Given the description of an element on the screen output the (x, y) to click on. 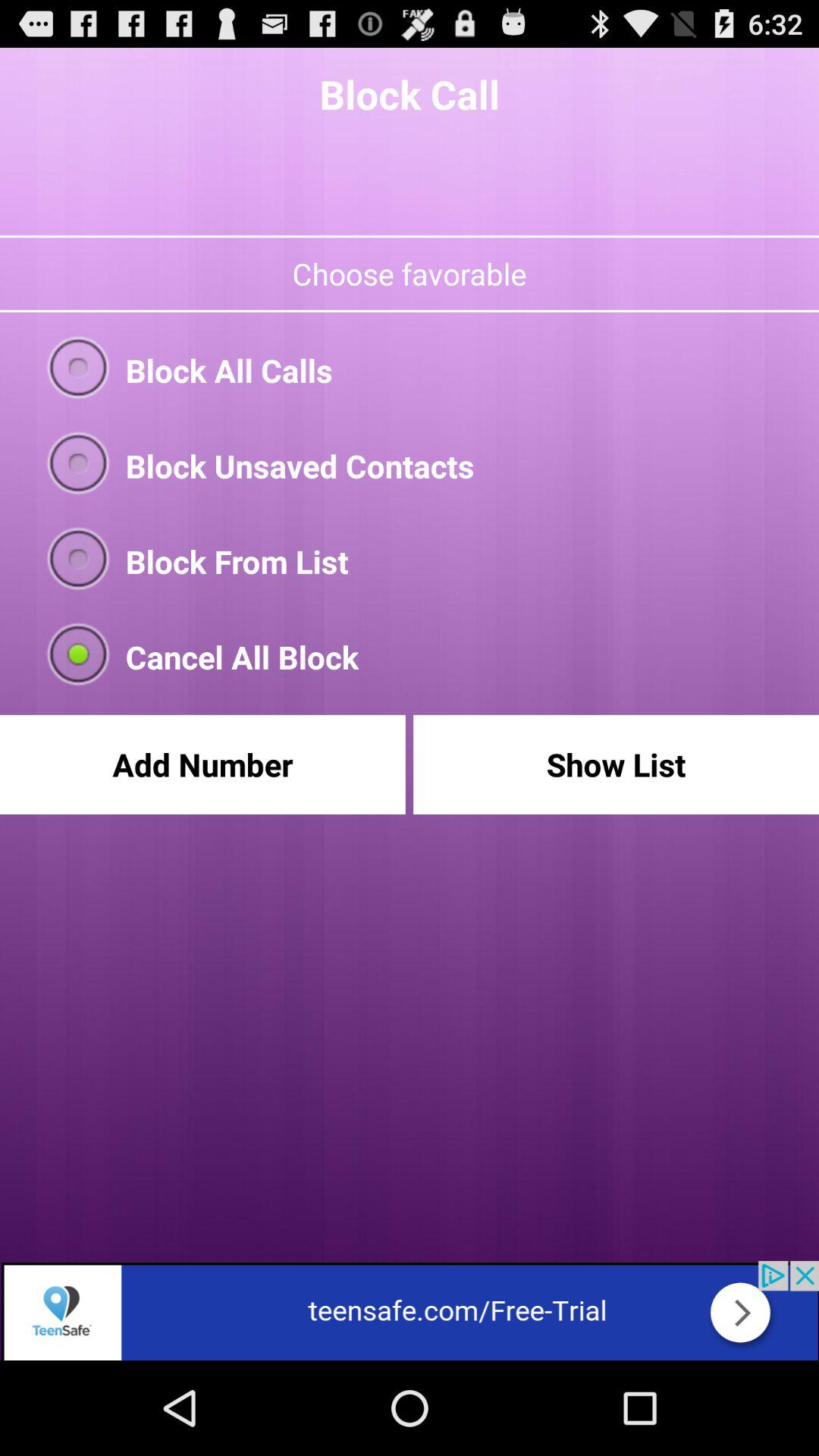
go to the advertisement page (409, 1310)
